Given the description of an element on the screen output the (x, y) to click on. 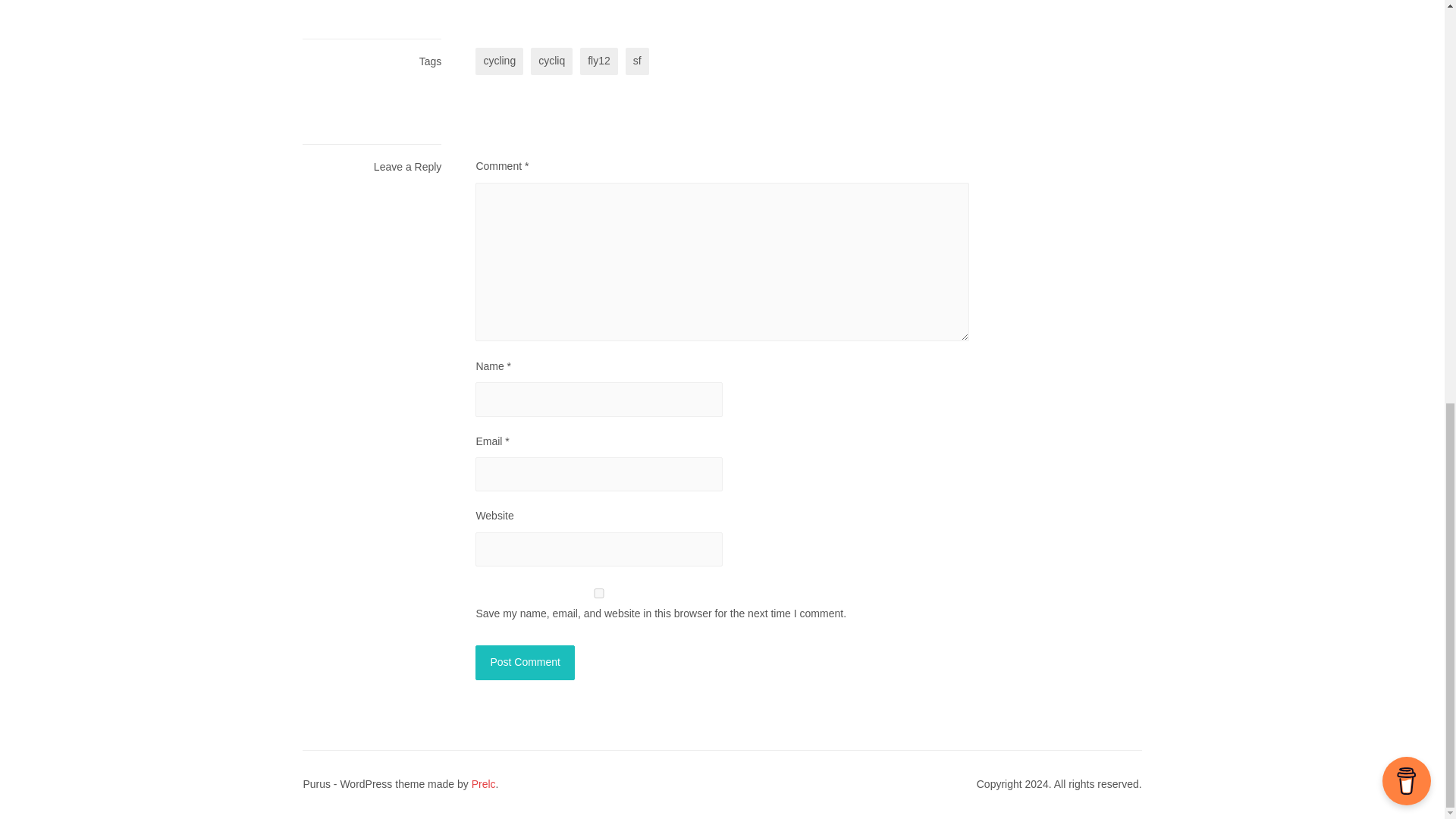
cycling (499, 61)
Post Comment (525, 662)
Prelc (483, 784)
fly12 (598, 61)
yes (599, 593)
cycliq (551, 61)
Post Comment (525, 662)
sf (637, 61)
